Given the description of an element on the screen output the (x, y) to click on. 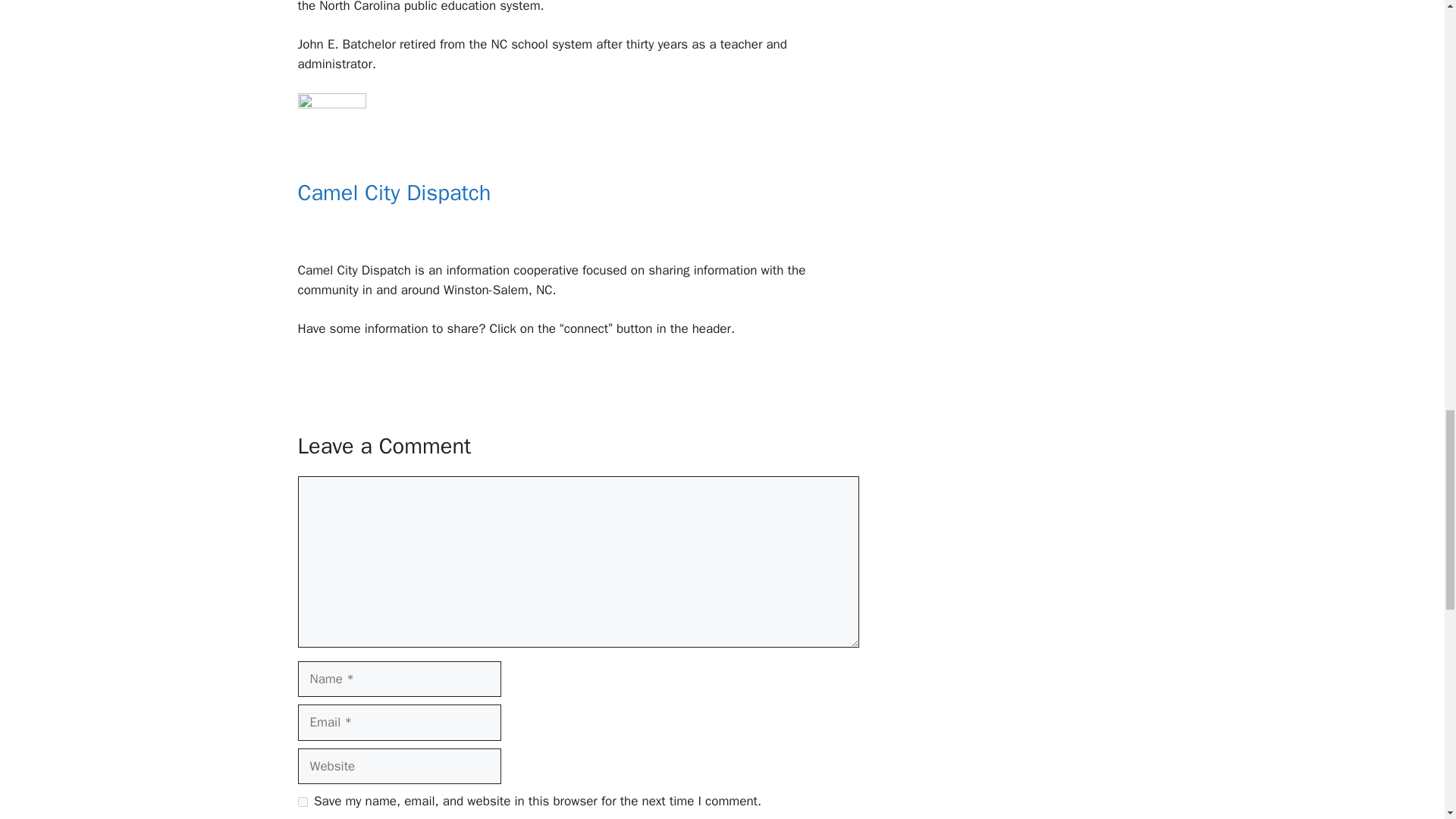
yes (302, 801)
Posts by Camel City Dispatch (393, 193)
